Given the description of an element on the screen output the (x, y) to click on. 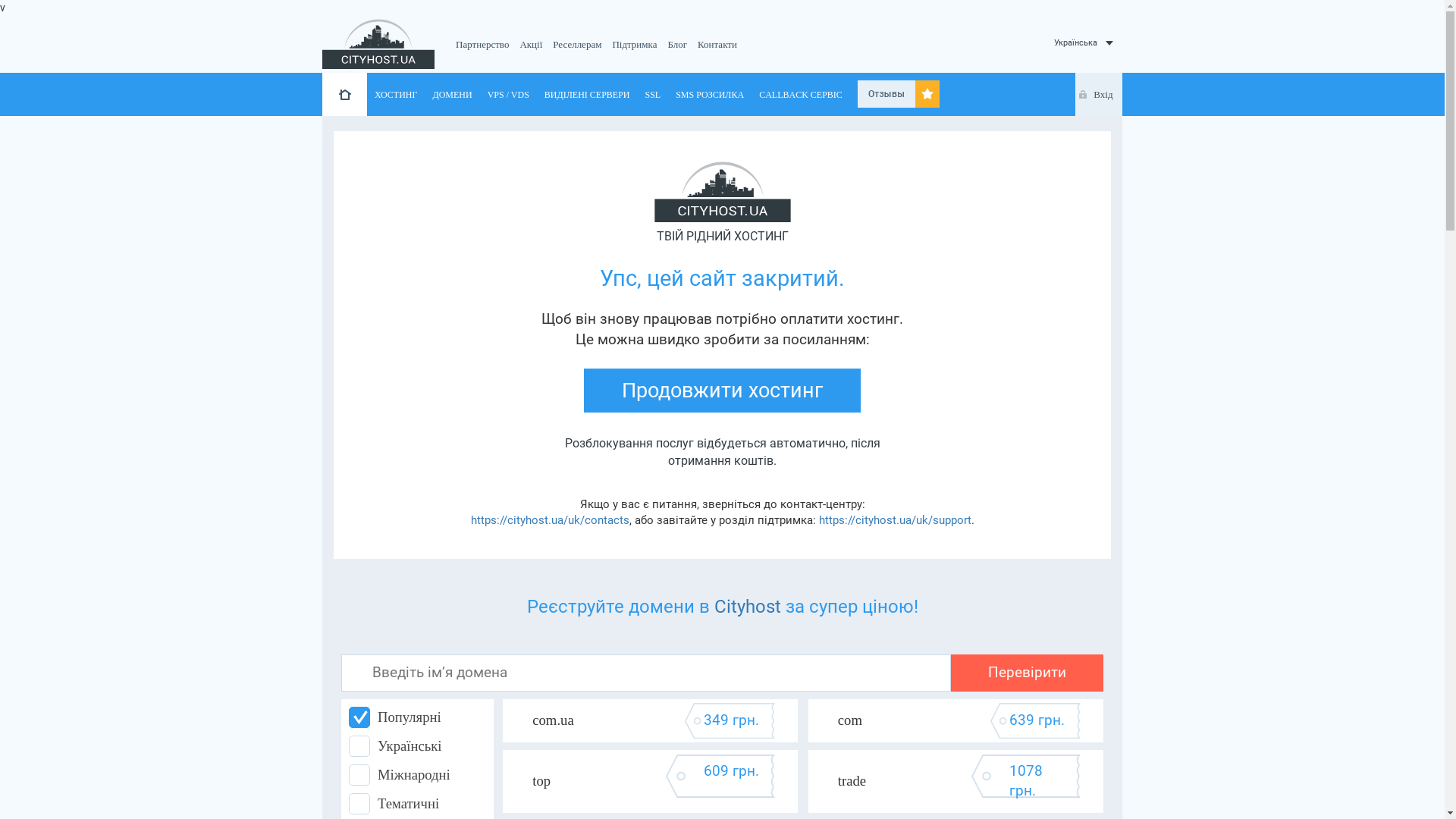
SSL Element type: text (652, 92)
https://cityhost.ua/uk/support Element type: text (895, 520)
Cityhost Element type: text (747, 606)
VPS / VDS Element type: text (508, 92)
https://cityhost.ua/uk/contacts Element type: text (549, 520)
